Given the description of an element on the screen output the (x, y) to click on. 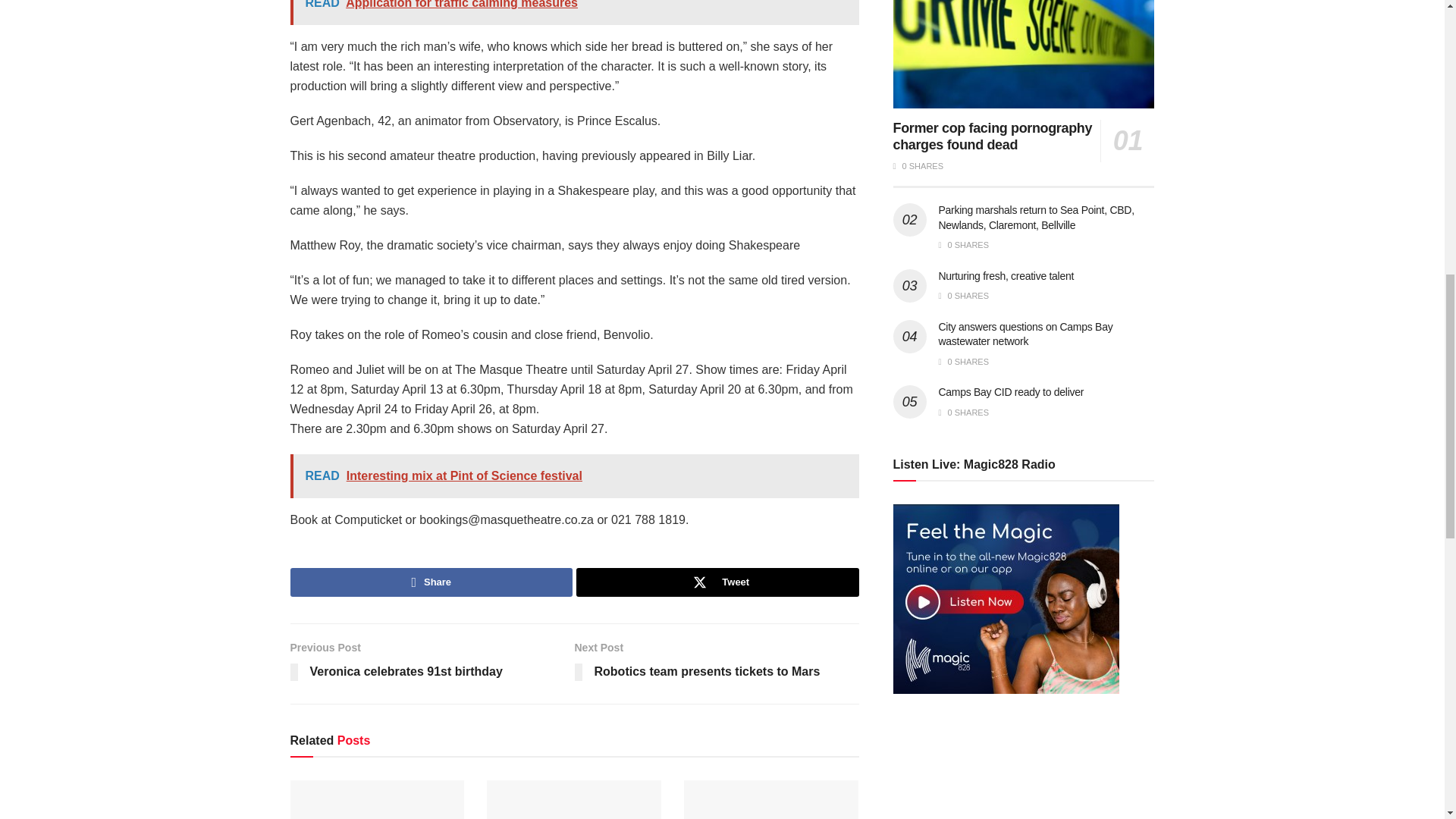
READ  Application for traffic calming measures (574, 12)
READ  Interesting mix at Pint of Science festival (574, 475)
